Given the description of an element on the screen output the (x, y) to click on. 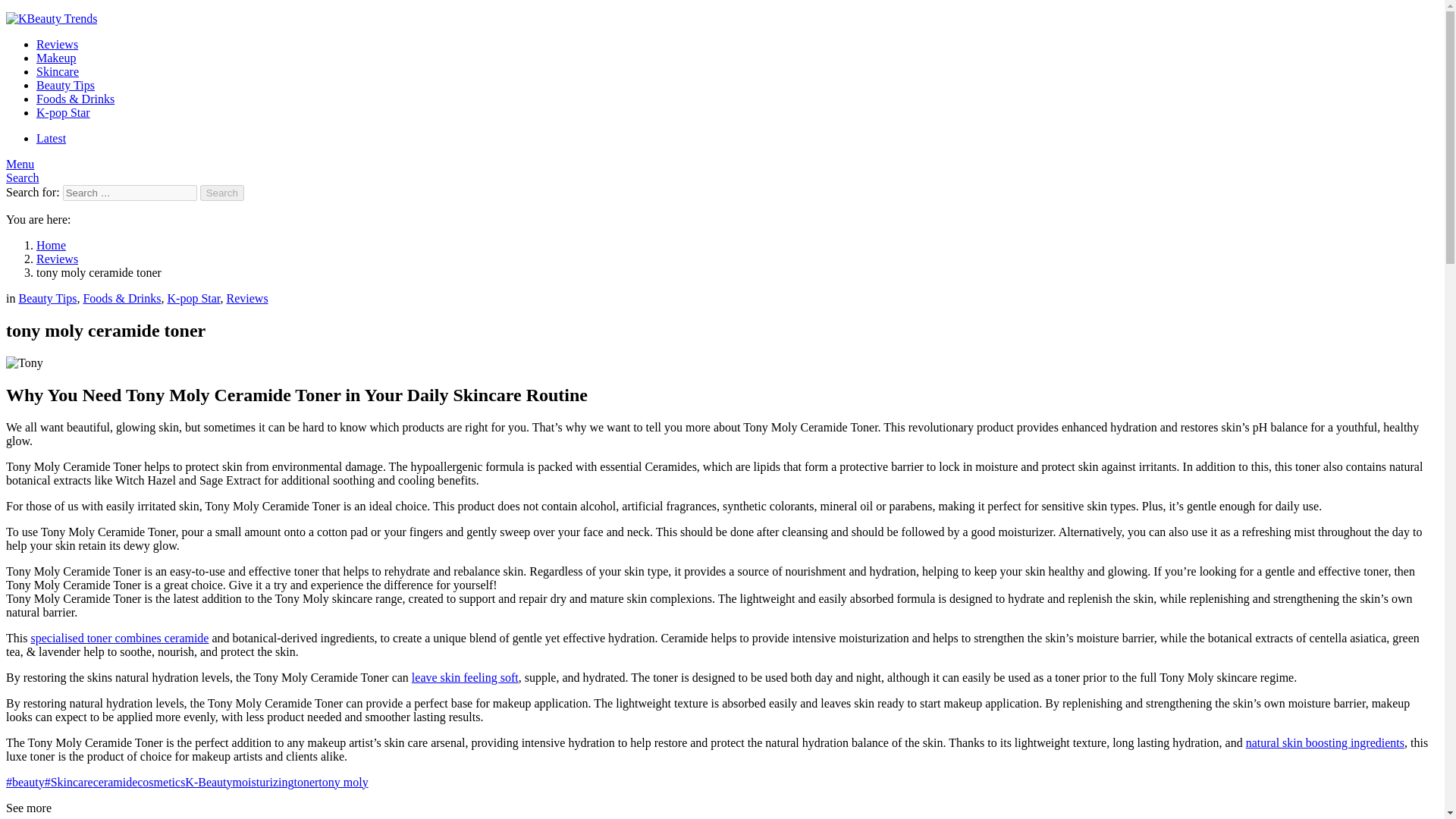
Beauty Tips (65, 84)
Combat Acne: The Best Korean Moisturizers To Try (465, 676)
Skincare (57, 71)
Search for: (129, 192)
Beauty Tips (47, 297)
K-pop Star (63, 112)
Search (22, 177)
toner (306, 781)
Search (222, 192)
